Given the description of an element on the screen output the (x, y) to click on. 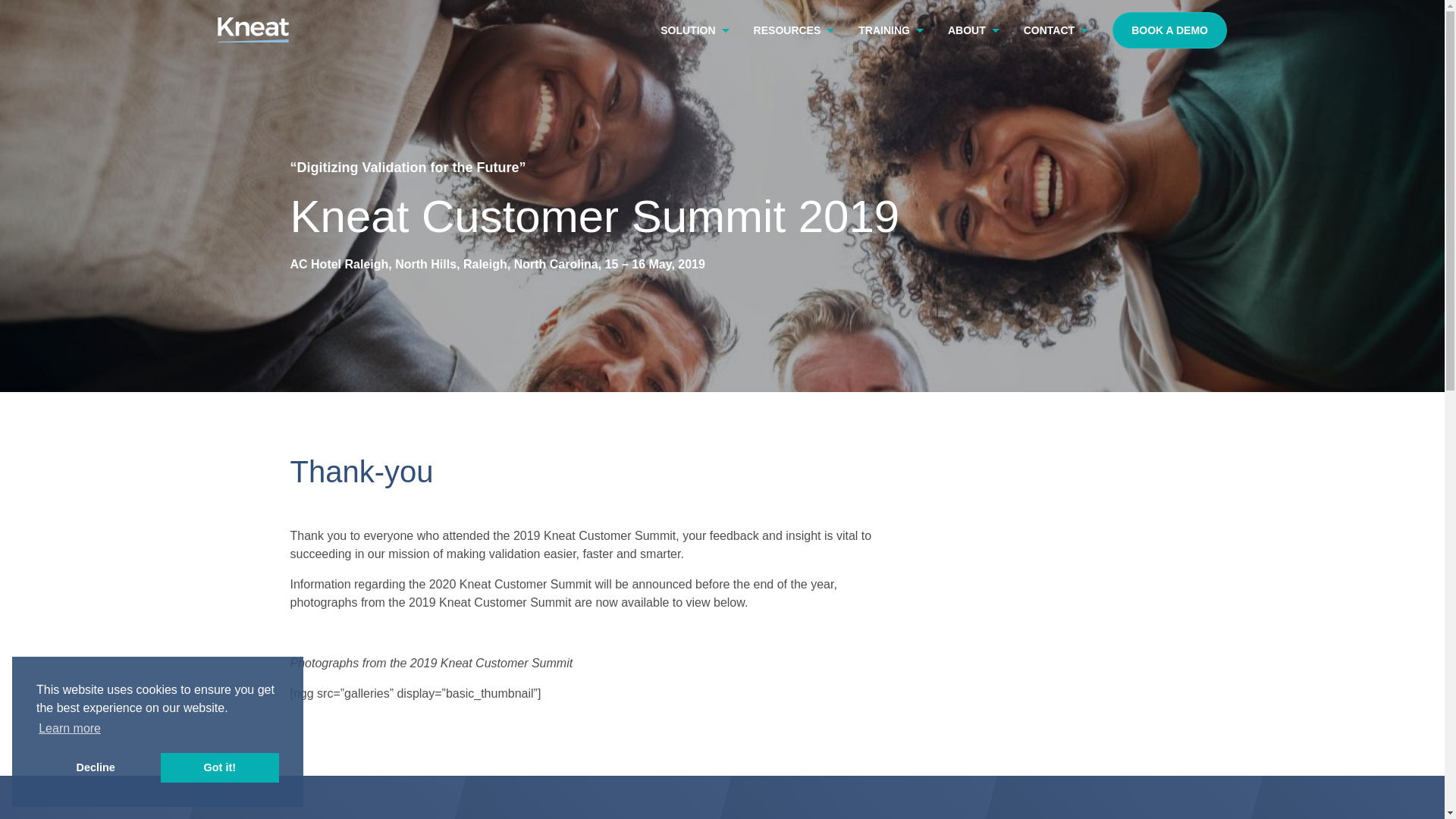
SOLUTION (695, 30)
BOOK A DEMO (1169, 30)
CONTACT (1055, 30)
ABOUT (972, 30)
TRAINING (891, 30)
Learn more (69, 728)
RESOURCES (794, 30)
Got it! (219, 767)
Decline (95, 767)
